Given the description of an element on the screen output the (x, y) to click on. 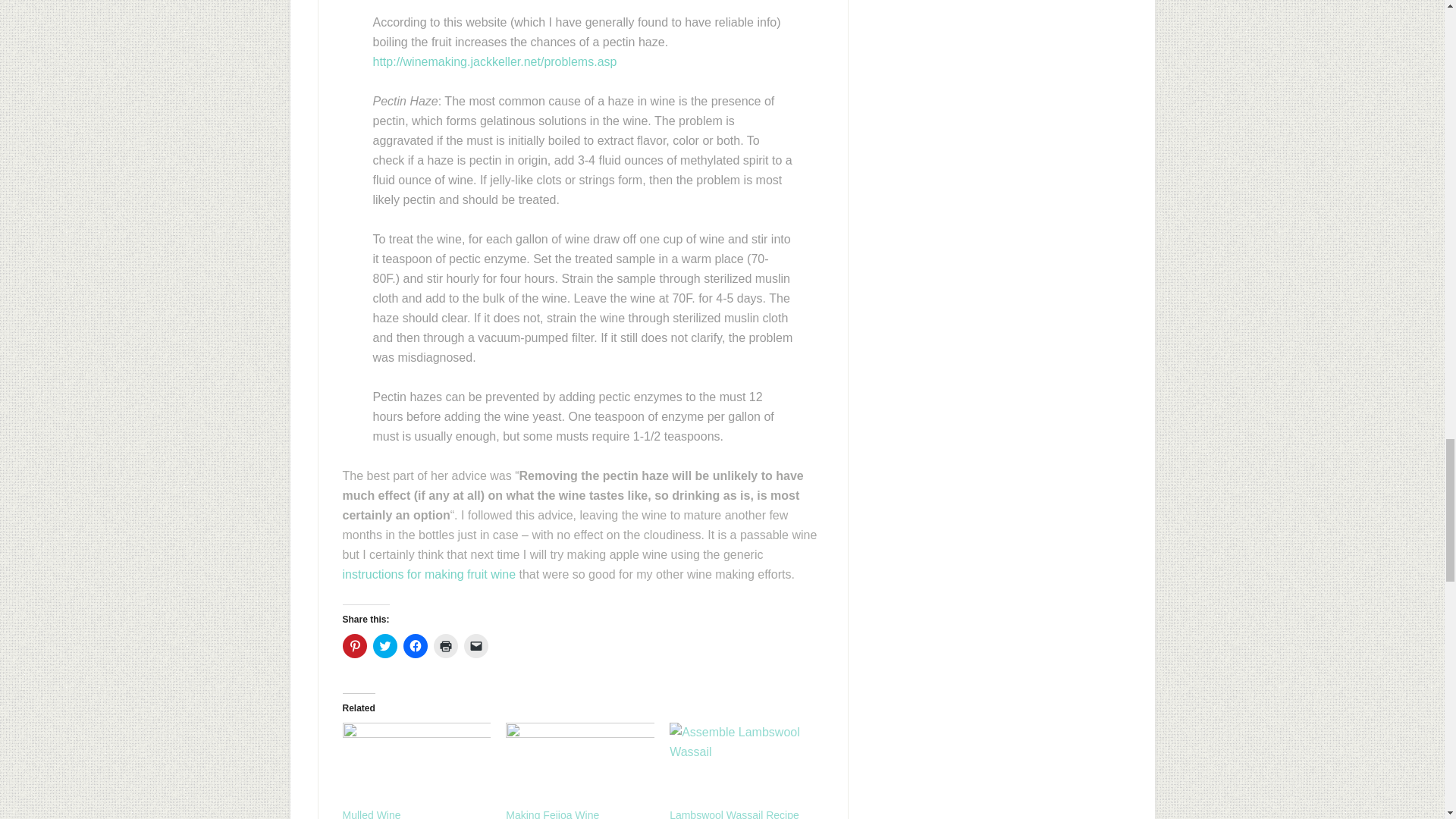
Making Feijoa Wine (579, 764)
Click to print (445, 645)
Click to share on Twitter (384, 645)
Click to share on Facebook (415, 645)
Lambswool Wassail Recipe (734, 814)
Mulled Wine (371, 814)
Click to email a link to a friend (475, 645)
Mulled Wine (417, 764)
Click to share on Pinterest (354, 645)
Making Feijoa Wine (551, 814)
